Given the description of an element on the screen output the (x, y) to click on. 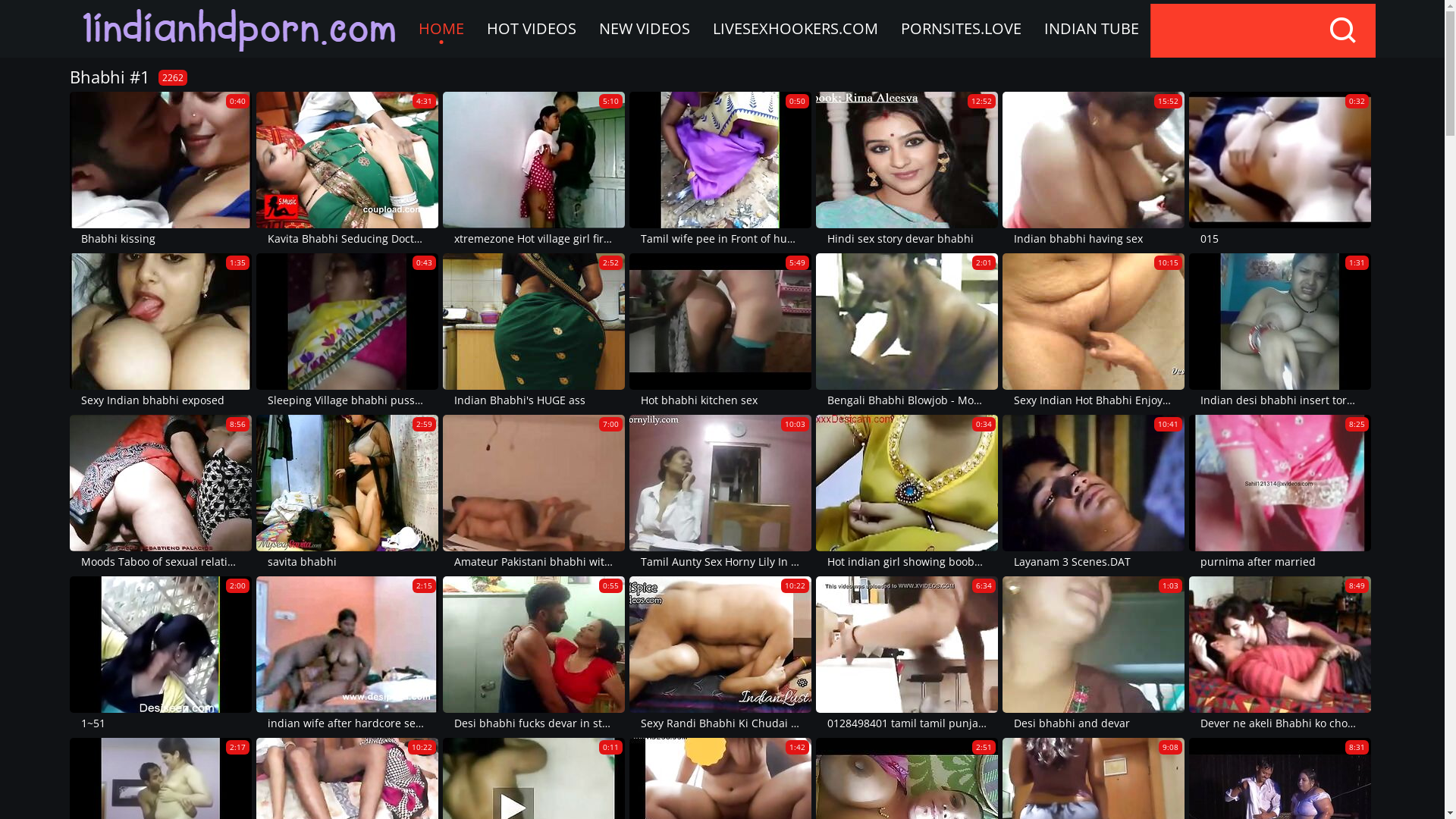
4:31
Kavita Bhabhi Seducing Doctor and then cheating him Element type: text (347, 169)
NEW VIDEOS Element type: text (643, 28)
8:25
purnima after married Element type: text (1280, 492)
10:41
Layanam 3 Scenes.DAT Element type: text (1093, 492)
HOME Element type: text (440, 28)
PORNSITES.LOVE Element type: text (960, 28)
INDIAN TUBE Element type: text (1091, 28)
2:59
savita bhabhi Element type: text (347, 492)
8:49
Dever ne akeli Bhabhi ko choda Element type: text (1280, 654)
6:34
0128498401 tamil tamil punjabi housewife hard fuck Element type: text (906, 654)
HOT VIDEOS Element type: text (530, 28)
0:55
Desi bhabhi fucks devar in standing missionary position Element type: text (533, 654)
12:52
Hindi sex story devar bhabhi Element type: text (906, 169)
0:43
Sleeping Village bhabhi pussy captured by hubby Element type: text (347, 331)
1:35
Sexy Indian bhabhi exposed Element type: text (160, 331)
2:00
1~51 Element type: text (160, 654)
1:03
Desi bhabhi and devar Element type: text (1093, 654)
10:15
Sexy Indian Hot Bhabhi Enjoying With Devar in Bathroom Element type: text (1093, 331)
2:52
Indian Bhabhi's HUGE ass Element type: text (533, 331)
5:49
Hot bhabhi kitchen sex Element type: text (720, 331)
10:03
Tamil Aunty Sex Horny Lily In Office Element type: text (720, 492)
0:40
Bhabhi kissing Element type: text (160, 169)
0:32
015 Element type: text (1280, 169)
15:52
Indian bhabhi having sex Element type: text (1093, 169)
LIVESEXHOOKERS.COM Element type: text (794, 28)
0:50
Tamil wife pee in Front of husband in outdoor Element type: text (720, 169)
2:01
Bengali Bhabhi Blowjob - Movies. video2porn2 Element type: text (906, 331)
